Given the description of an element on the screen output the (x, y) to click on. 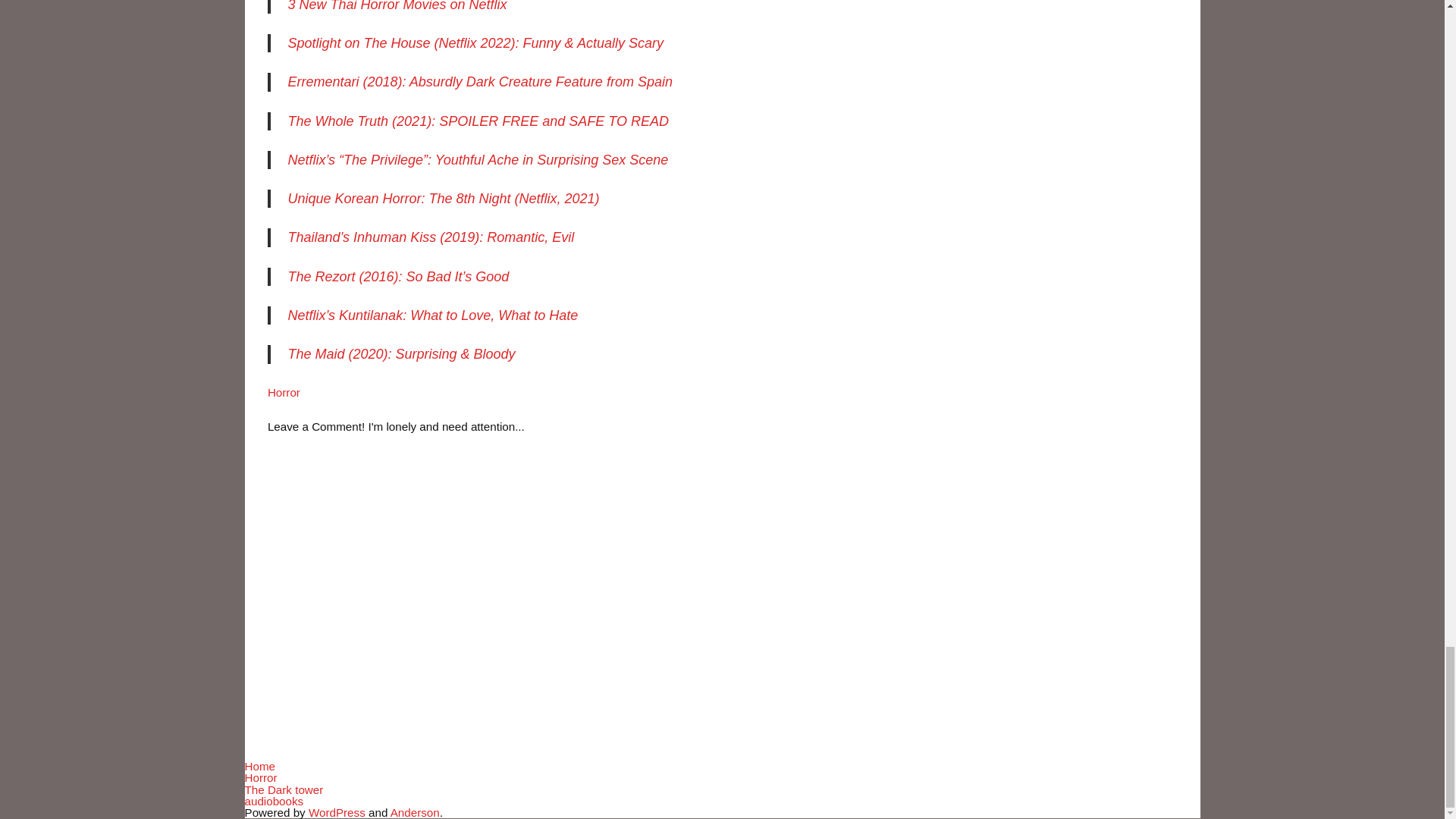
Horror (283, 391)
3 New Thai Horror Movies on Netflix (396, 6)
